Given the description of an element on the screen output the (x, y) to click on. 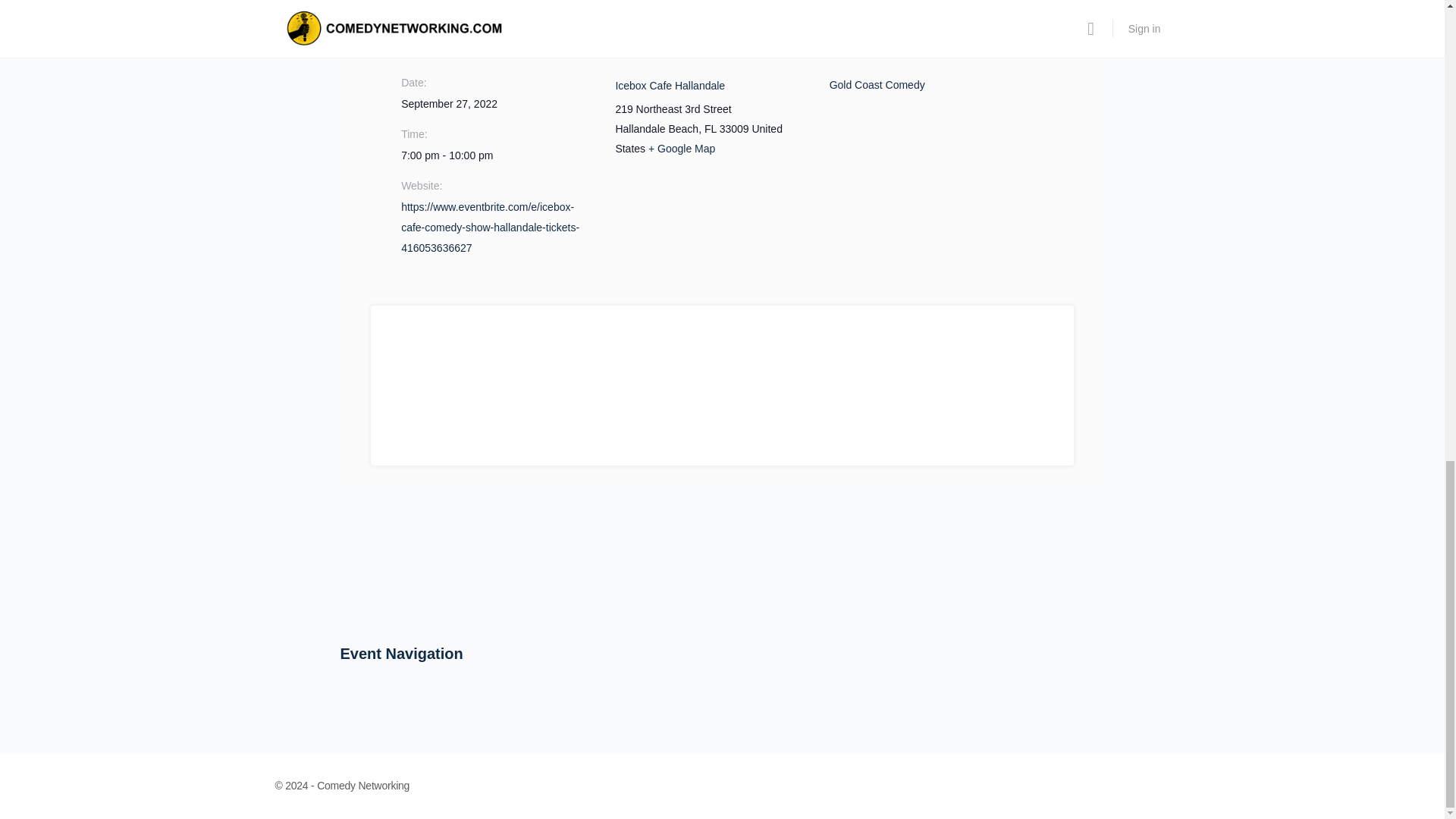
Gold Coast Comedy (876, 84)
2022-09-27 (498, 155)
Icebox Cafe Hallandale (669, 85)
Florida (710, 128)
Gold Coast Comedy (876, 84)
Click to view a Google Map (680, 148)
2022-09-27 (449, 103)
